Given the description of an element on the screen output the (x, y) to click on. 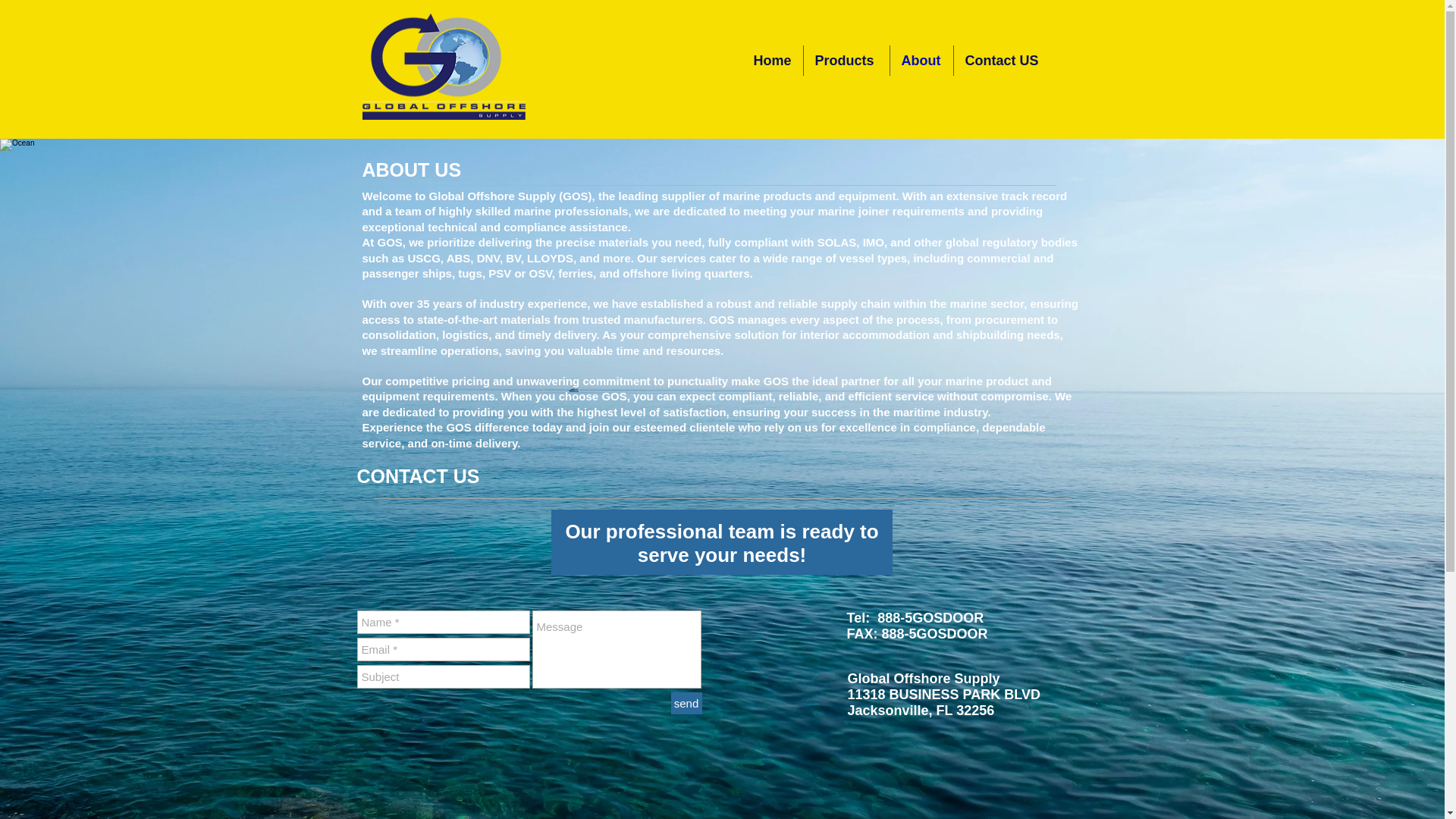
send (685, 703)
About (921, 60)
Contact US (1003, 60)
Home (771, 60)
global logos.png (443, 66)
